Given the description of an element on the screen output the (x, y) to click on. 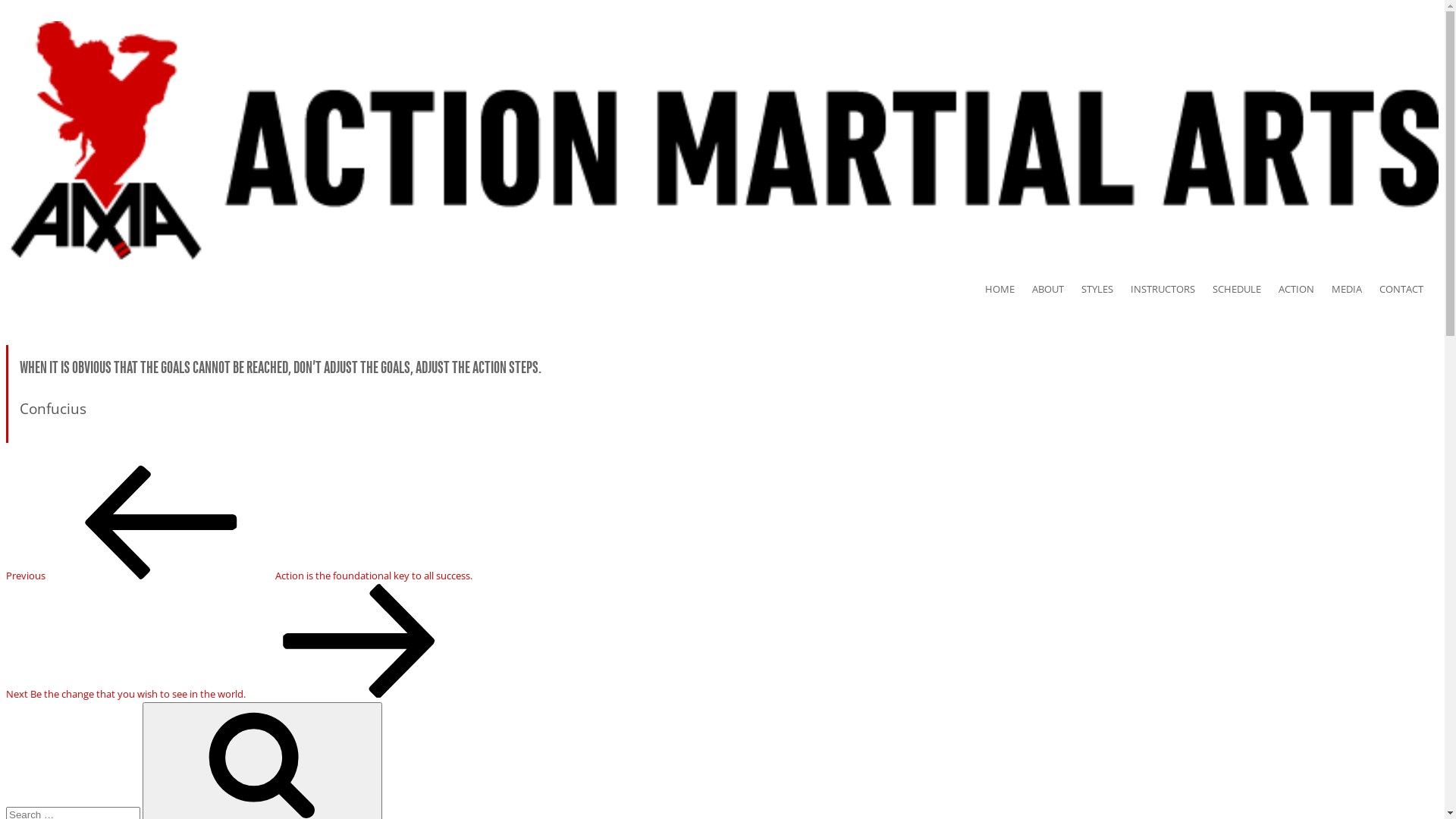
INSTRUCTORS Element type: text (1170, 288)
ABOUT Element type: text (1055, 288)
STYLES Element type: text (1104, 288)
CONTACT Element type: text (1408, 288)
SCHEDULE Element type: text (1244, 288)
MEDIA Element type: text (1354, 288)
ACTION Element type: text (1303, 288)
HOME Element type: text (1007, 288)
